Given the description of an element on the screen output the (x, y) to click on. 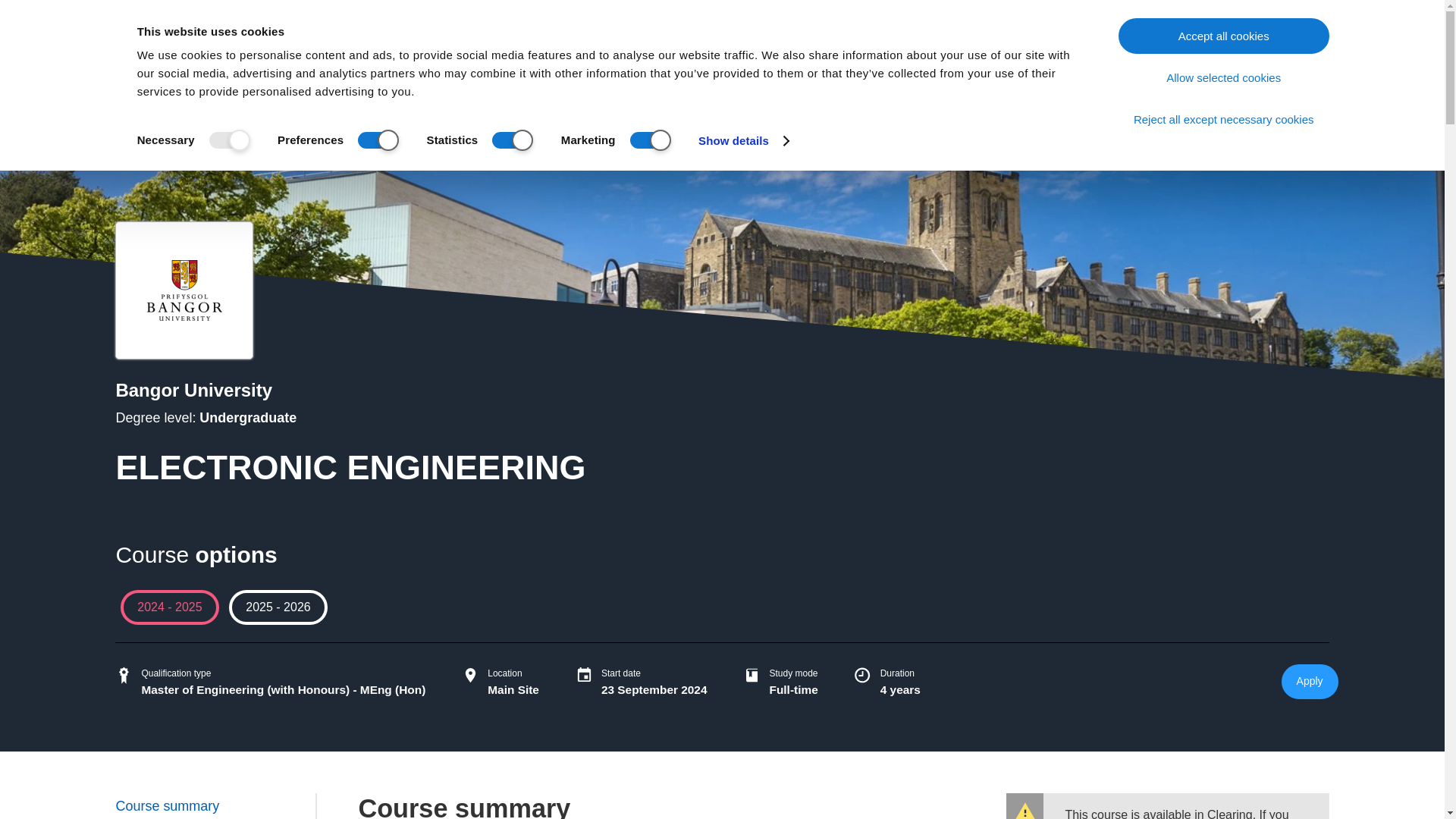
Show details (742, 140)
